Given the description of an element on the screen output the (x, y) to click on. 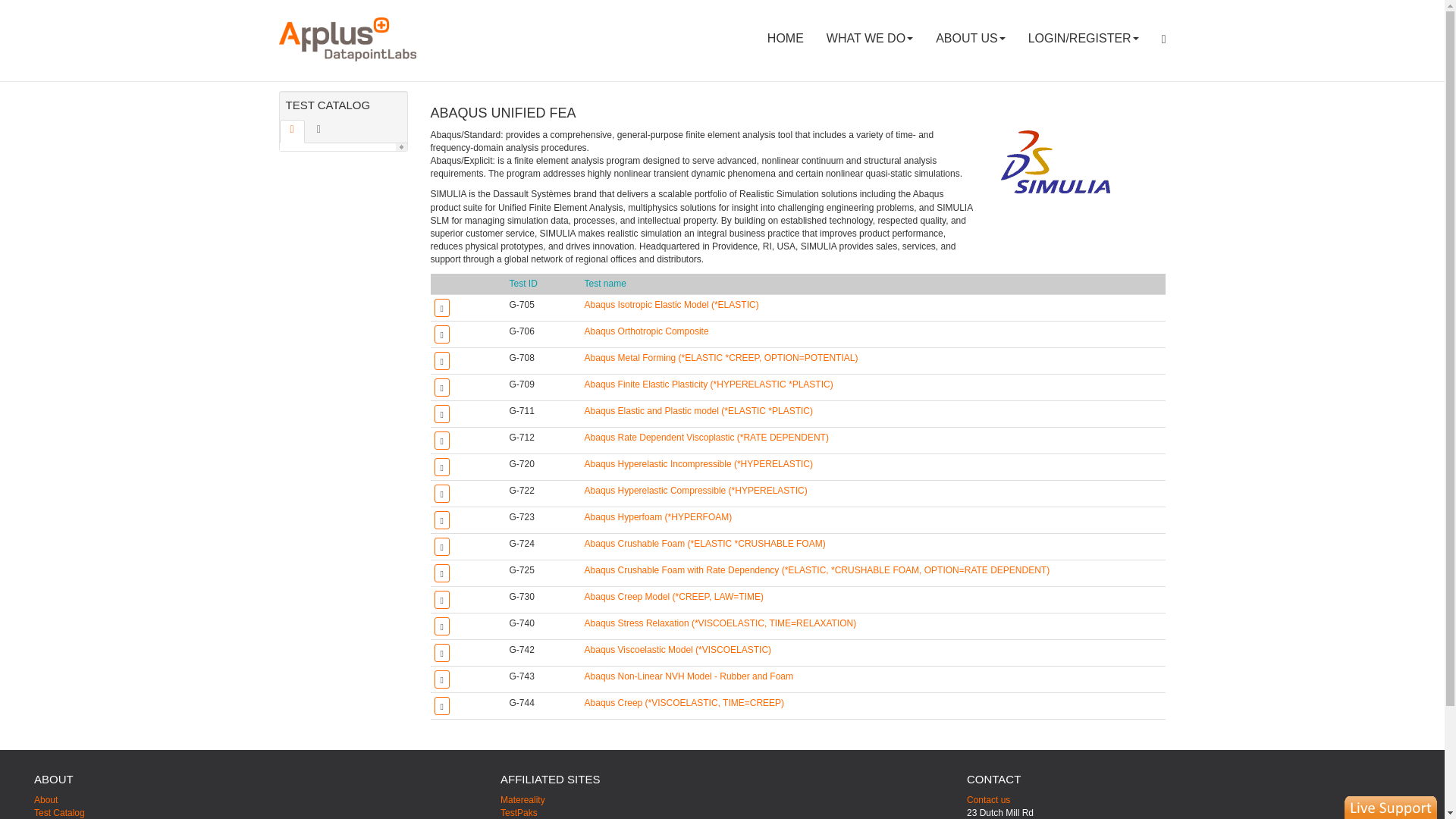
View (721, 623)
View (673, 596)
View (706, 437)
View (708, 384)
View (817, 570)
View (678, 649)
View (698, 410)
View (722, 357)
View (671, 304)
View (658, 516)
View (698, 463)
View (689, 675)
View (647, 330)
Speak with our support staff! (1390, 807)
View (696, 490)
